Given the description of an element on the screen output the (x, y) to click on. 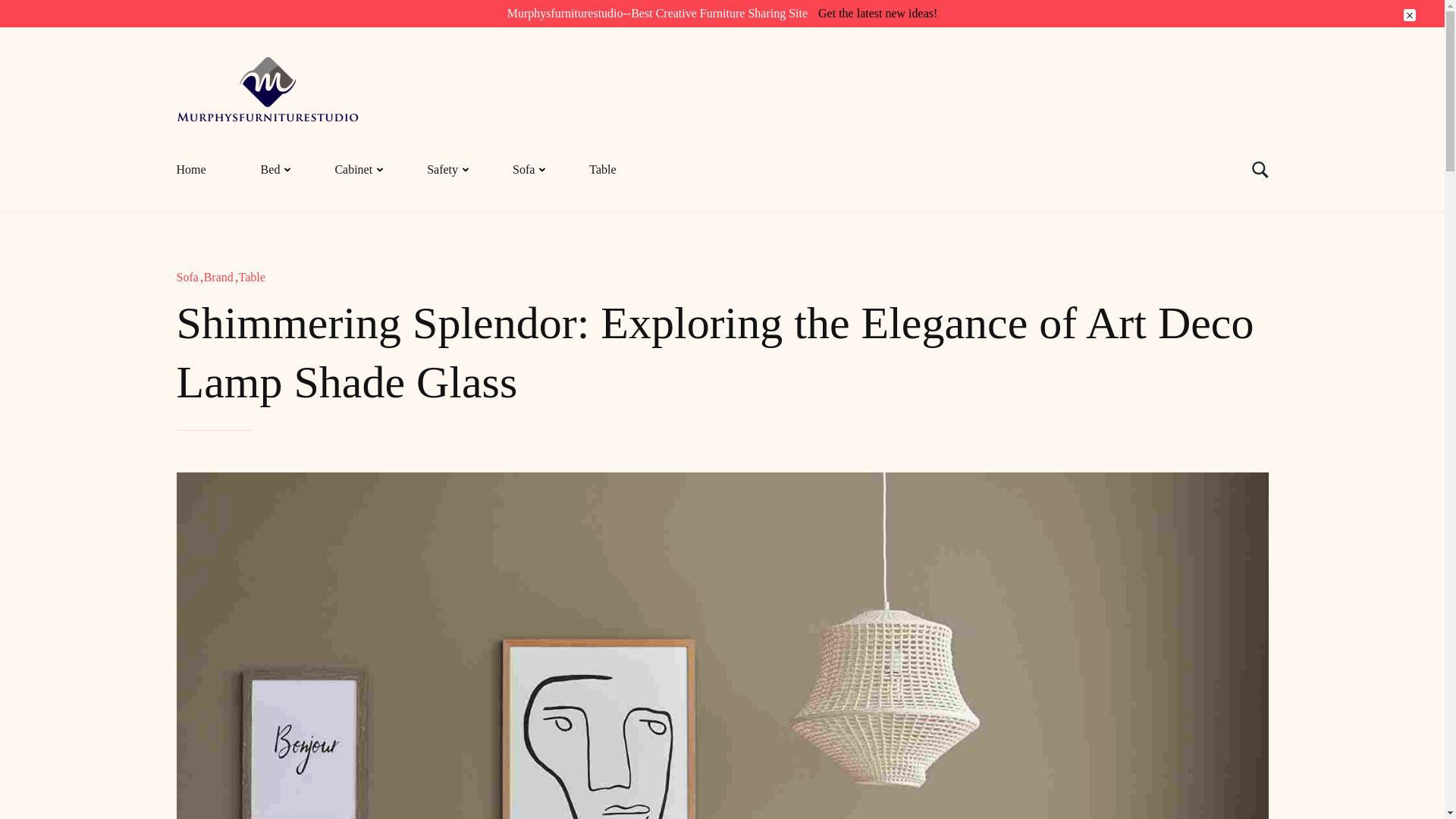
Murphysfurniturestudio (270, 65)
Table (251, 277)
Bed (269, 169)
Sofa (523, 169)
Brand (220, 277)
Sofa (189, 277)
Safety (441, 169)
Get the latest new ideas! (877, 13)
Home (204, 169)
Cabinet (352, 169)
